Given the description of an element on the screen output the (x, y) to click on. 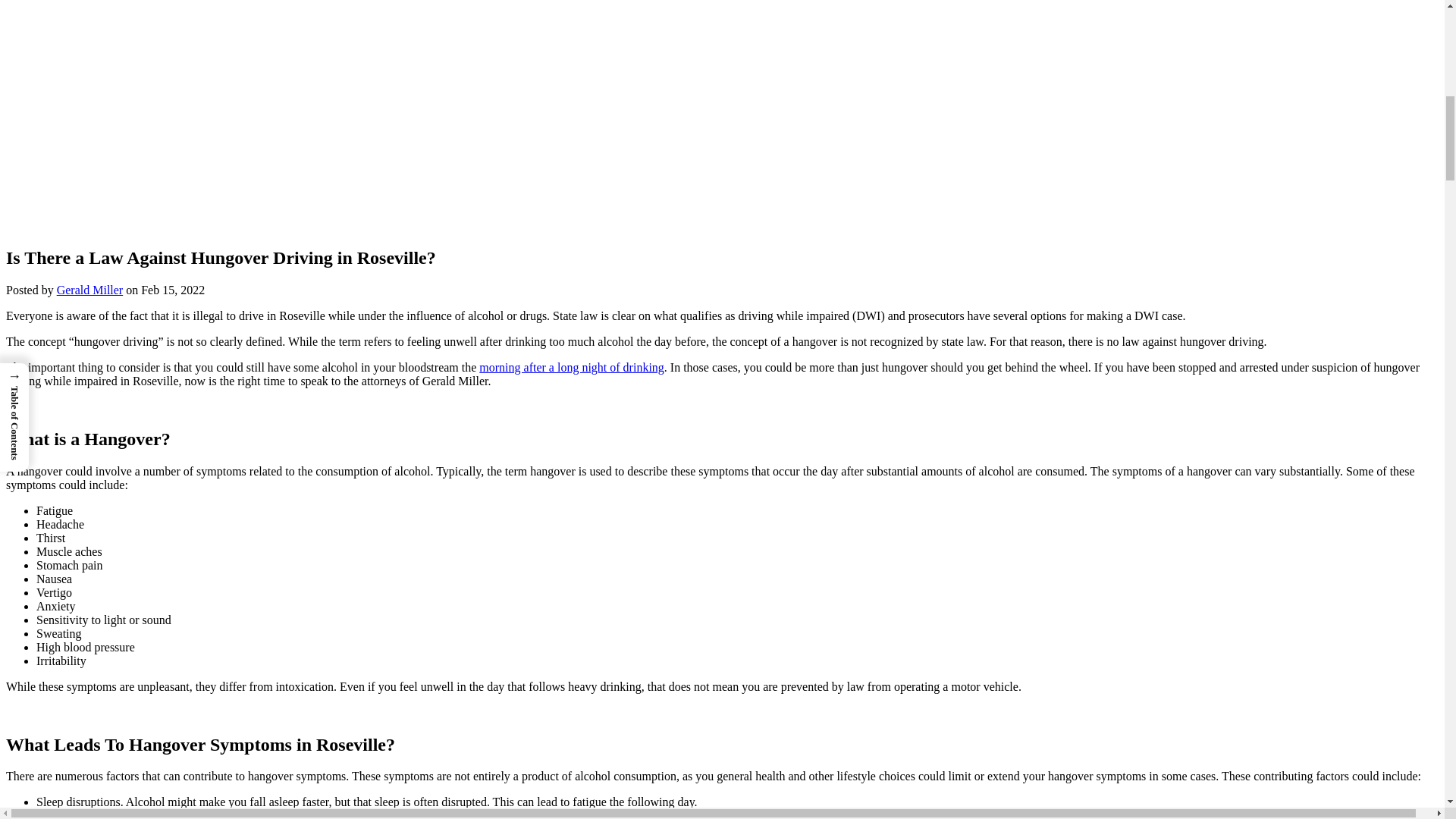
Posts by Gerald Miller (89, 289)
Gerald Miller (89, 289)
morning after a long night of drinking (571, 367)
